Given the description of an element on the screen output the (x, y) to click on. 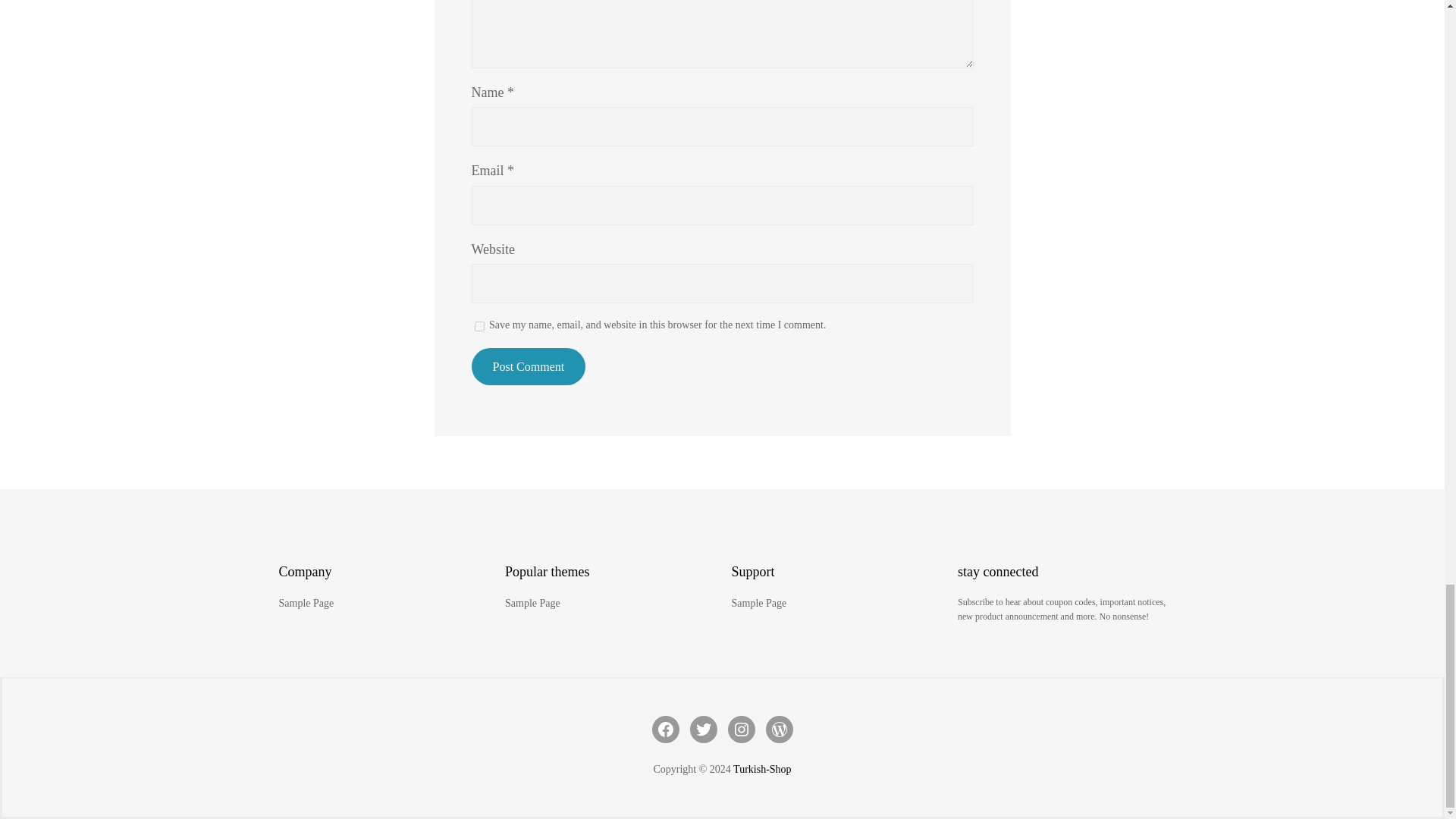
Post Comment (528, 366)
Twitter (703, 728)
Turkish-Shop (762, 768)
Sample Page (758, 603)
WordPress (779, 728)
Sample Page (532, 603)
yes (479, 326)
Instagram (741, 728)
Post Comment (528, 366)
Sample Page (306, 603)
Facebook (665, 728)
